Given the description of an element on the screen output the (x, y) to click on. 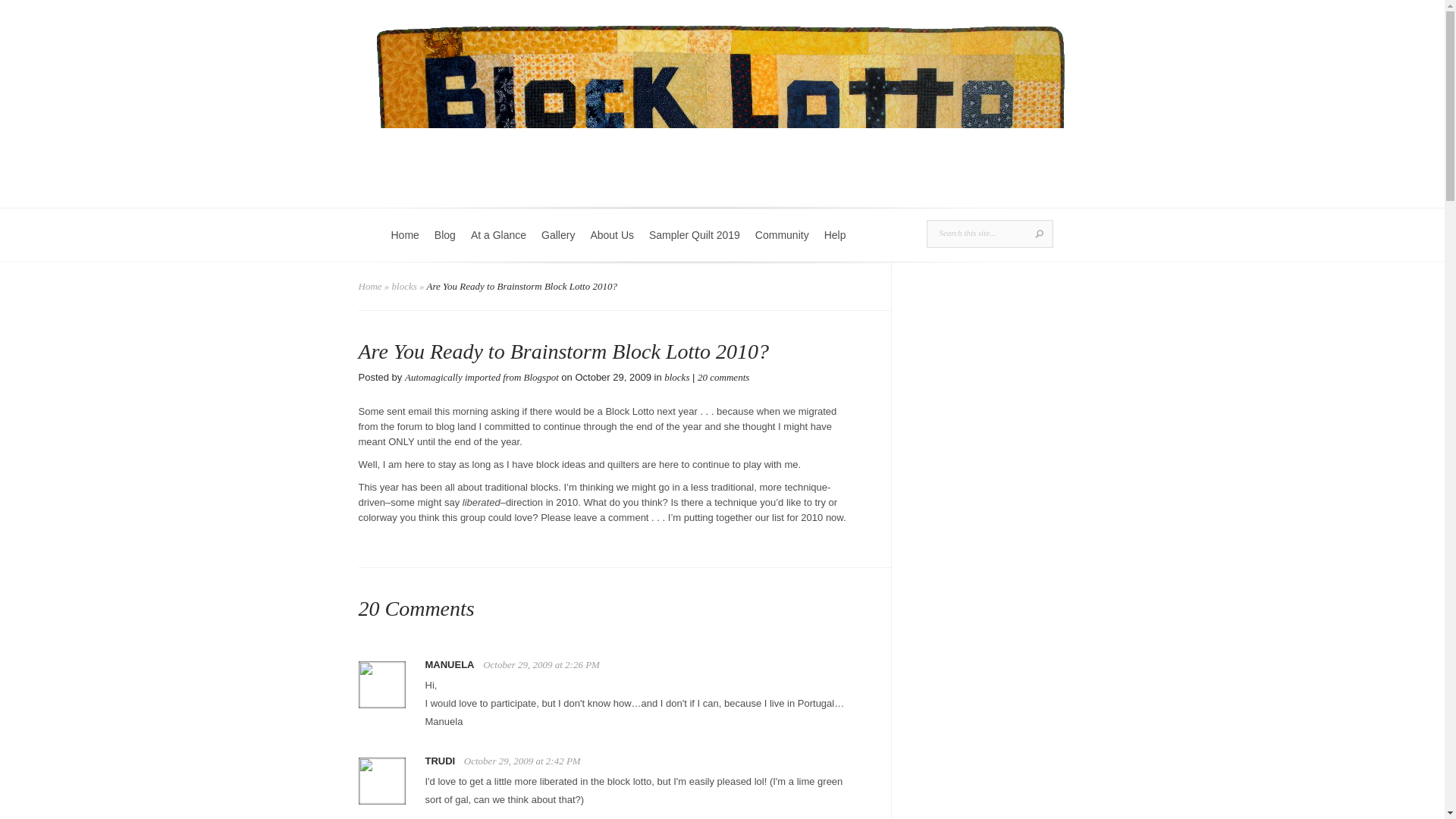
Automagically imported from Blogspot (481, 377)
Home (369, 285)
At a Glance (498, 244)
Community (782, 244)
About Us (612, 244)
Posts by Automagically imported from Blogspot (481, 377)
Gallery (558, 244)
20 comments (723, 377)
blocks (675, 377)
blocks (403, 285)
